Given the description of an element on the screen output the (x, y) to click on. 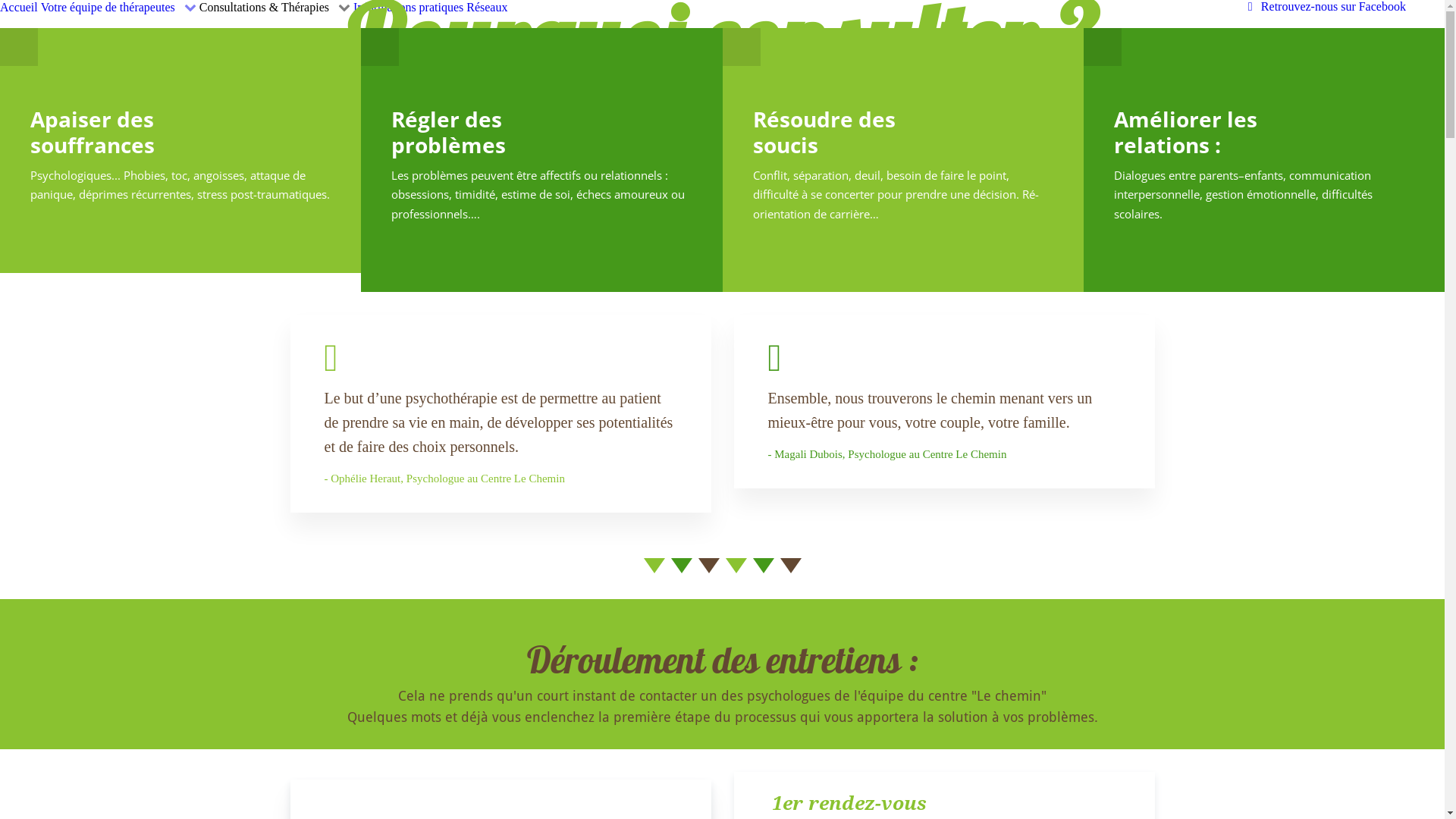
Informations pratiques Element type: text (408, 7)
NOUS CONTACTER Element type: text (721, 182)
Accueil Element type: text (18, 7)
Retrouvez-nous sur Facebook Element type: text (1323, 6)
